Given the description of an element on the screen output the (x, y) to click on. 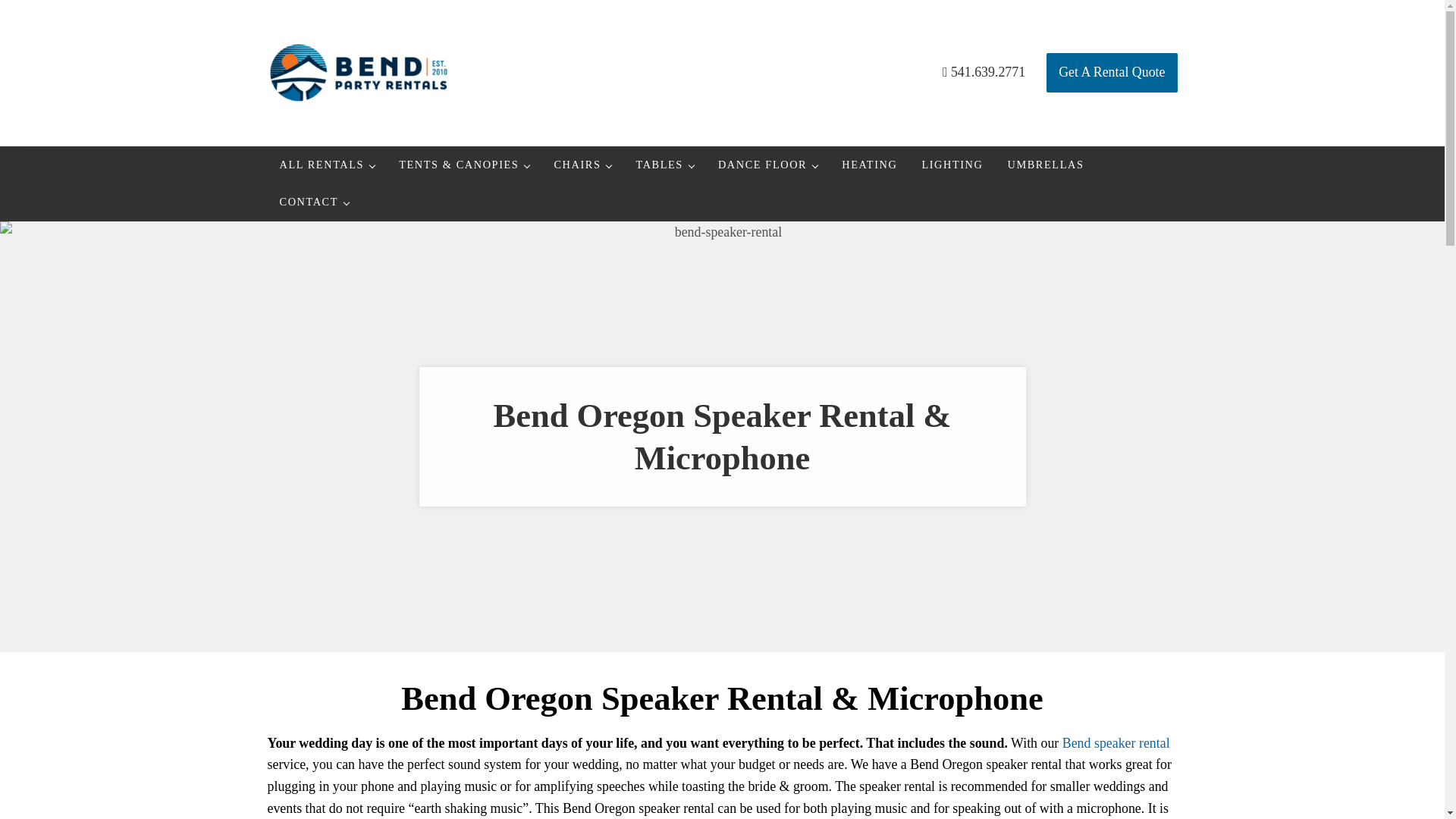
DANCE FLOOR (767, 164)
 541.639.2771 (983, 72)
CHAIRS (582, 164)
ALL RENTALS (326, 164)
TABLES (663, 164)
Get A Rental Quote (1111, 72)
